Given the description of an element on the screen output the (x, y) to click on. 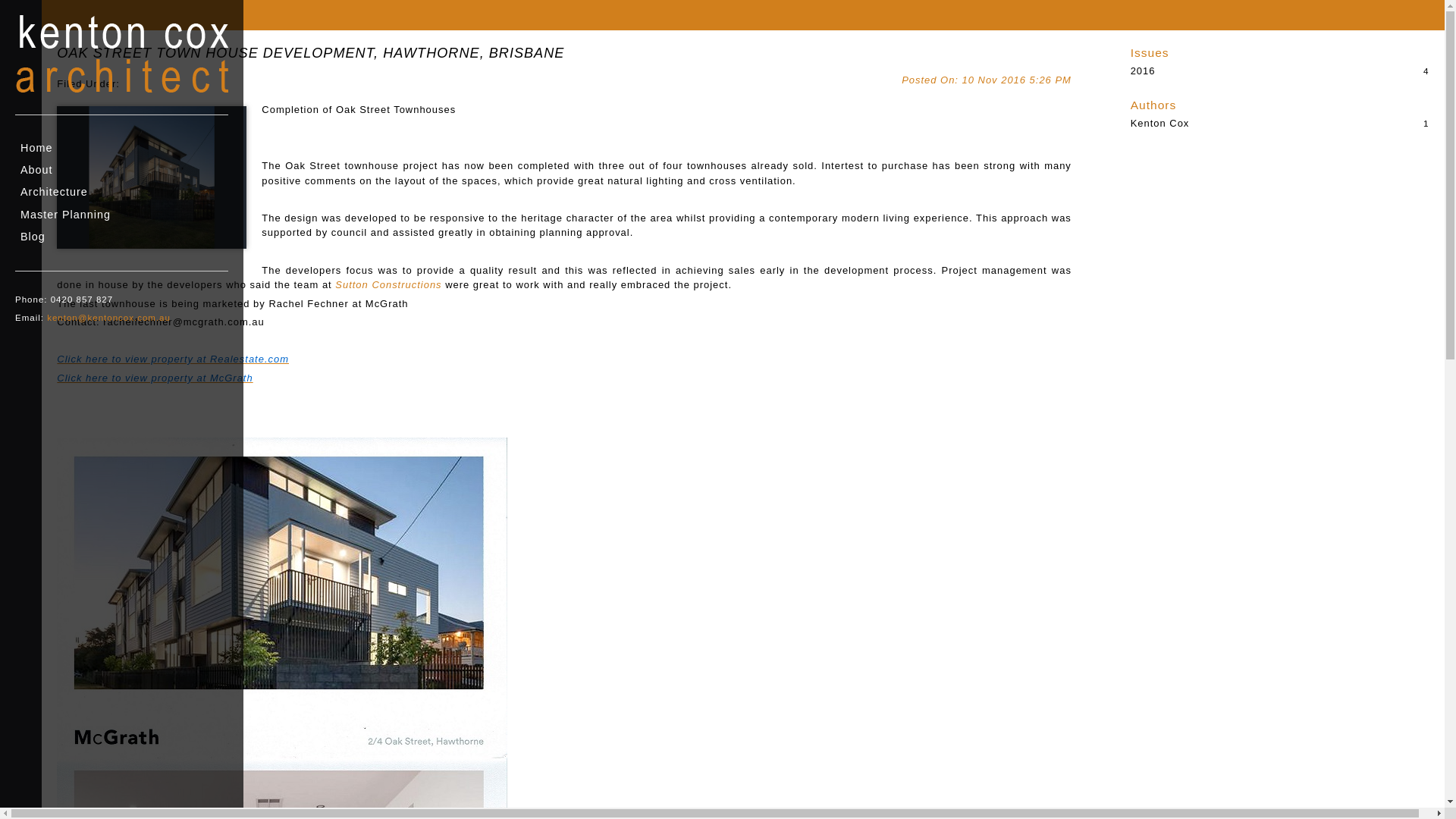
About Element type: text (121, 170)
10 Nov 2016 5:26 PM Element type: text (986, 78)
Kenton Cox Element type: text (1279, 123)
Master Planning Element type: text (121, 214)
Click here to view property at McGrath Element type: text (154, 377)
Home Element type: text (121, 148)
Sutton Constructions Element type: text (388, 284)
Architecture Element type: text (121, 192)
2016 Element type: text (1279, 70)
Click here to view property at Realestate.com Element type: text (172, 358)
OAK STREET TOWN HOUSE DEVELOPMENT, HAWTHORNE, BRISBANE Element type: text (310, 52)
kenton@kentoncox.com.au Element type: text (108, 317)
Blog Element type: text (121, 236)
